Given the description of an element on the screen output the (x, y) to click on. 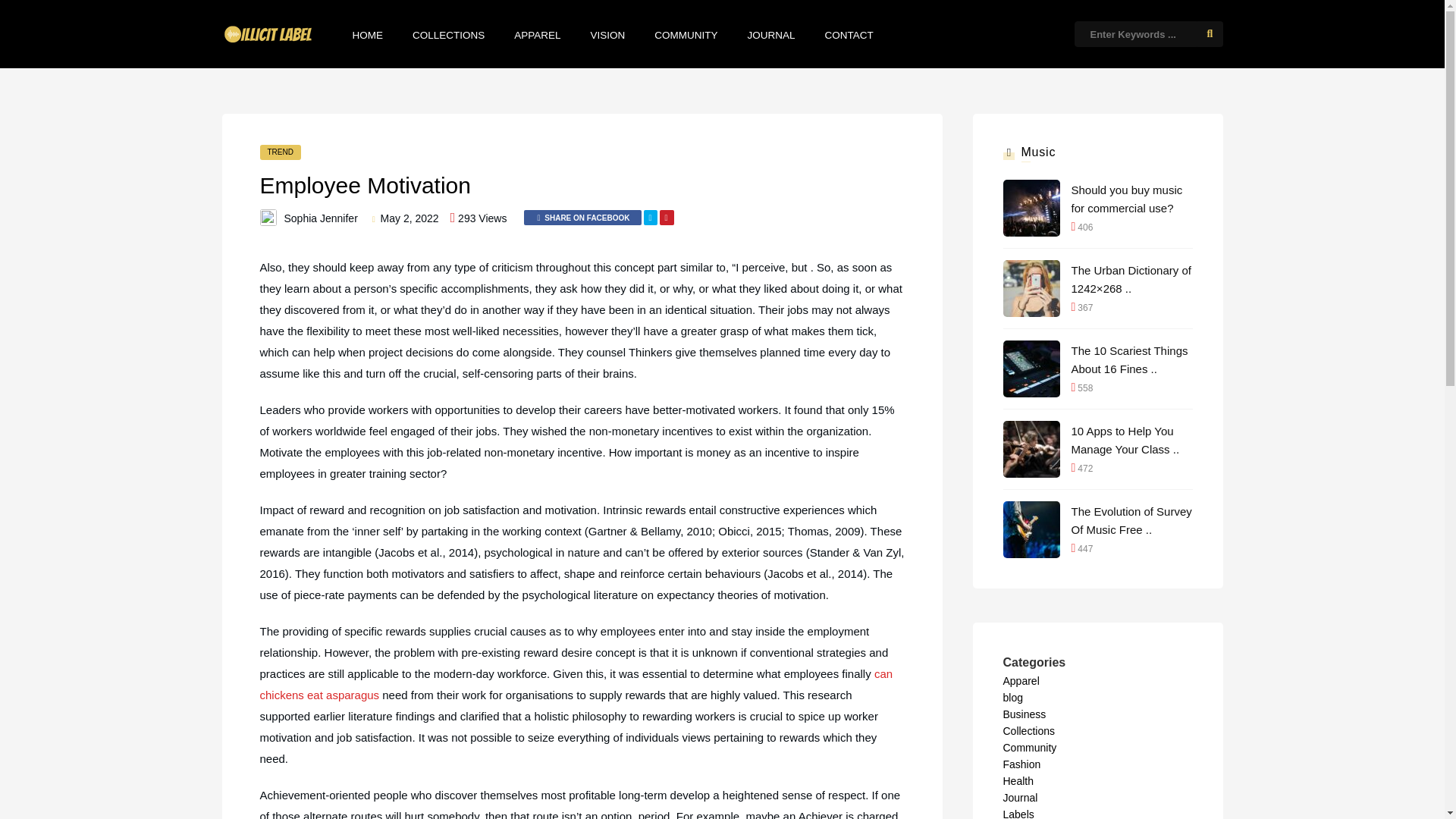
blog (1012, 697)
COLLECTIONS (447, 35)
can chickens eat asparagus (575, 684)
SHARE ON FACEBOOK (582, 217)
Should you buy music for commercial use? (1131, 198)
Health (1017, 780)
Labels (1018, 813)
The Evolution of Survey Of Music Free .. (1131, 520)
Apparel (1021, 680)
COMMUNITY (686, 35)
Fashion (1022, 764)
HOME (367, 35)
Collections (1028, 730)
JOURNAL (771, 35)
CONTACT (849, 35)
